Given the description of an element on the screen output the (x, y) to click on. 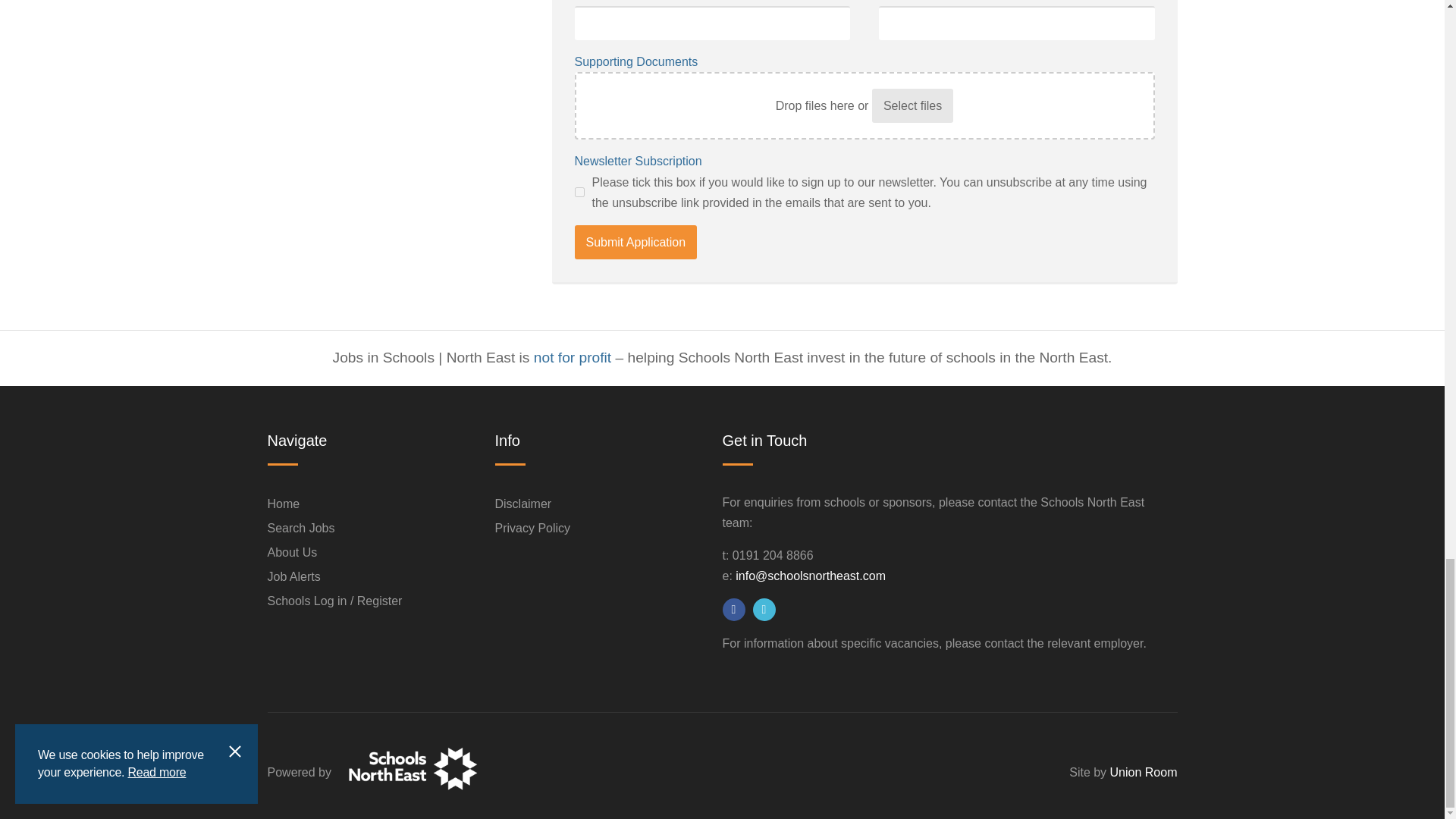
Select files (912, 105)
Submit Application (636, 242)
